Given the description of an element on the screen output the (x, y) to click on. 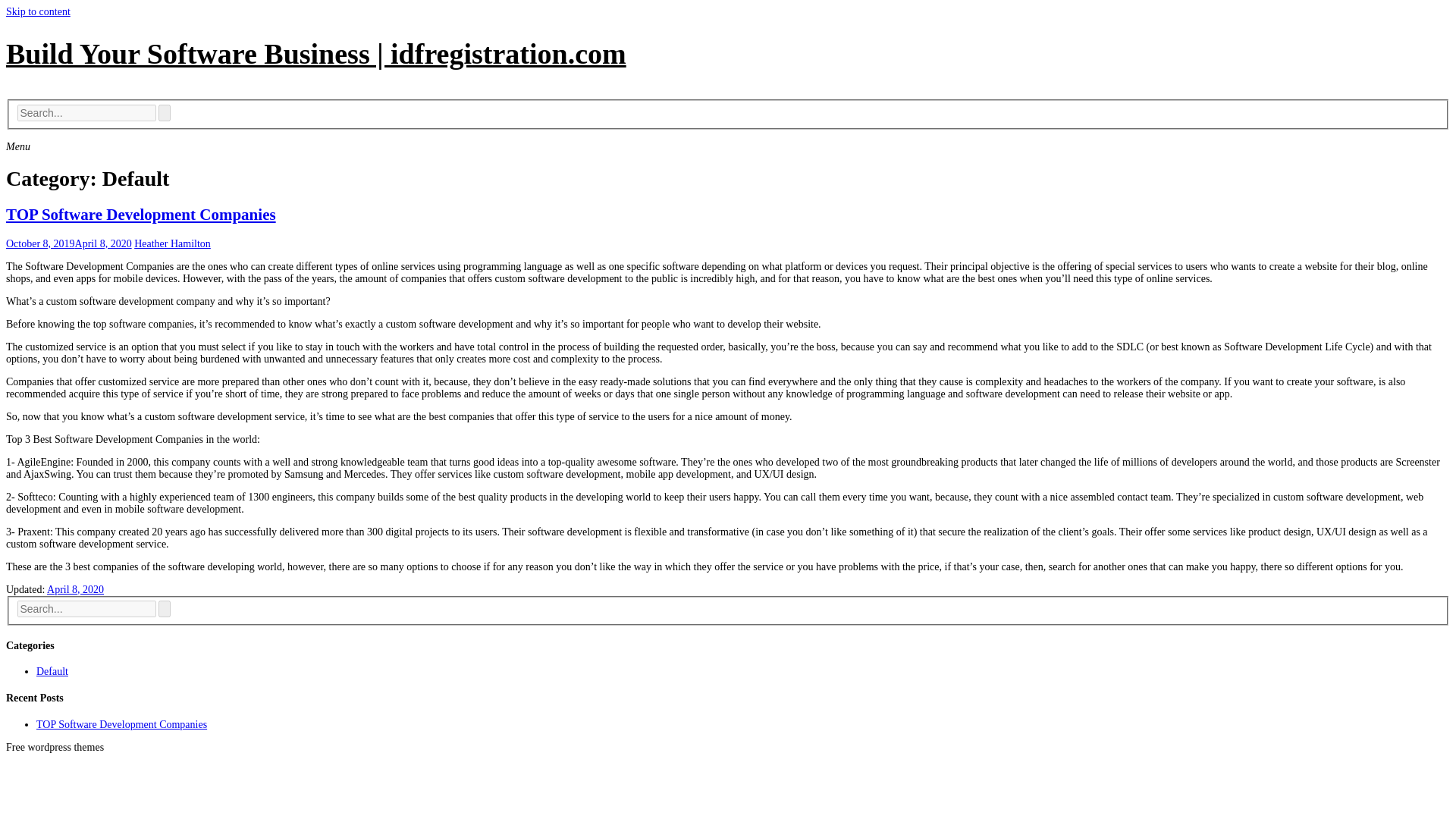
Skip to content (37, 11)
TOP Software Development Companies (121, 724)
Search for: (85, 608)
Search for: (85, 112)
October 8, 2019April 8, 2020 (68, 243)
April 8, 2020 (74, 589)
Heather Hamilton (172, 243)
TOP Software Development Companies (140, 214)
Default (52, 671)
